Given the description of an element on the screen output the (x, y) to click on. 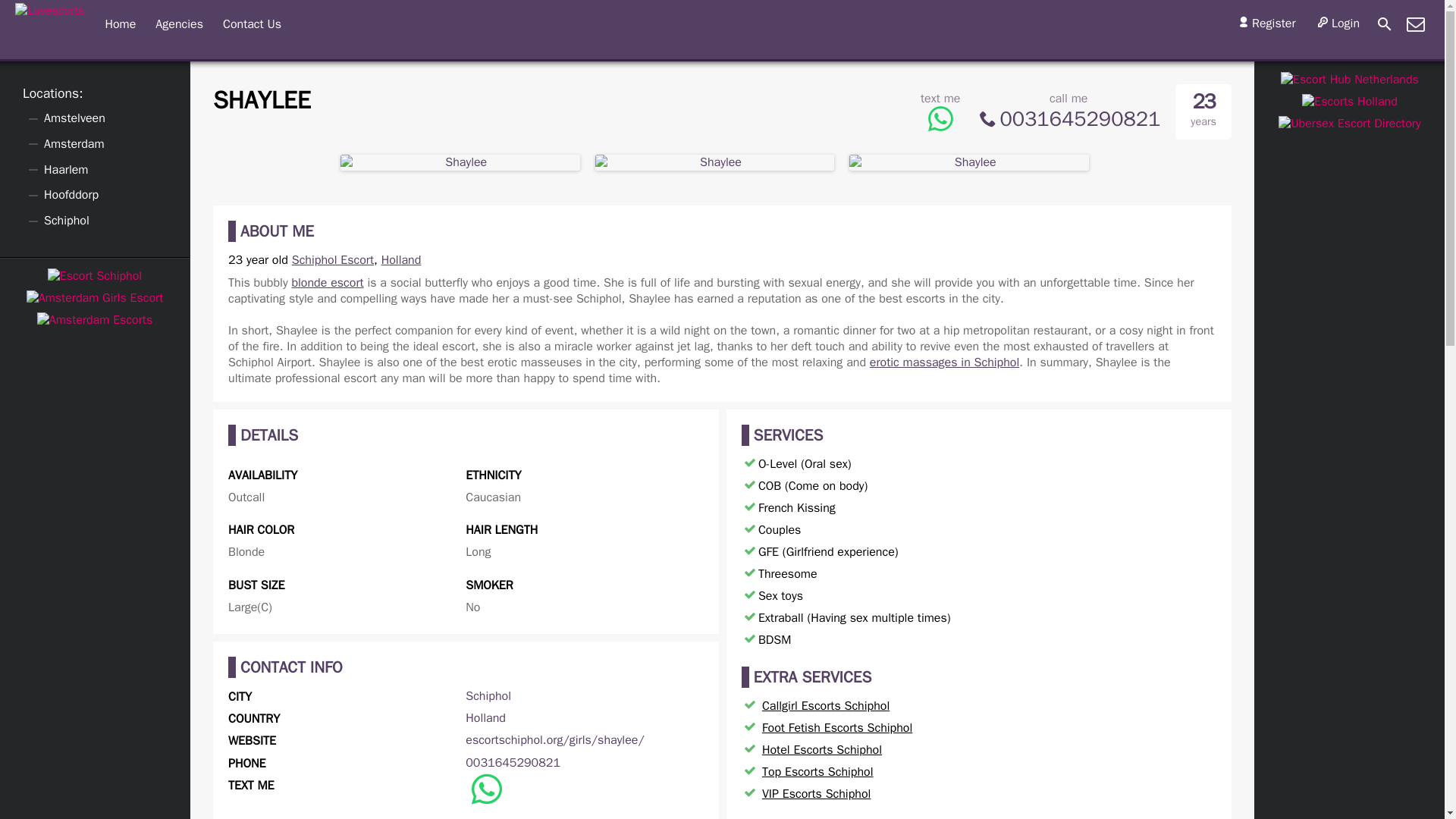
erotic massages in Schiphol (944, 362)
Agencies (178, 24)
Contact Us (251, 24)
Schiphol Escort (333, 259)
Schiphol (488, 695)
blonde escort (326, 282)
Search (1384, 23)
Foot Fetish Escorts Schiphol (836, 727)
Erotic Massage Schiphol (944, 362)
Top Escorts Schiphol (817, 771)
Shaylee (261, 100)
Holland (485, 717)
0031645290821 (1068, 118)
Holland (401, 259)
Login (1337, 23)
